Given the description of an element on the screen output the (x, y) to click on. 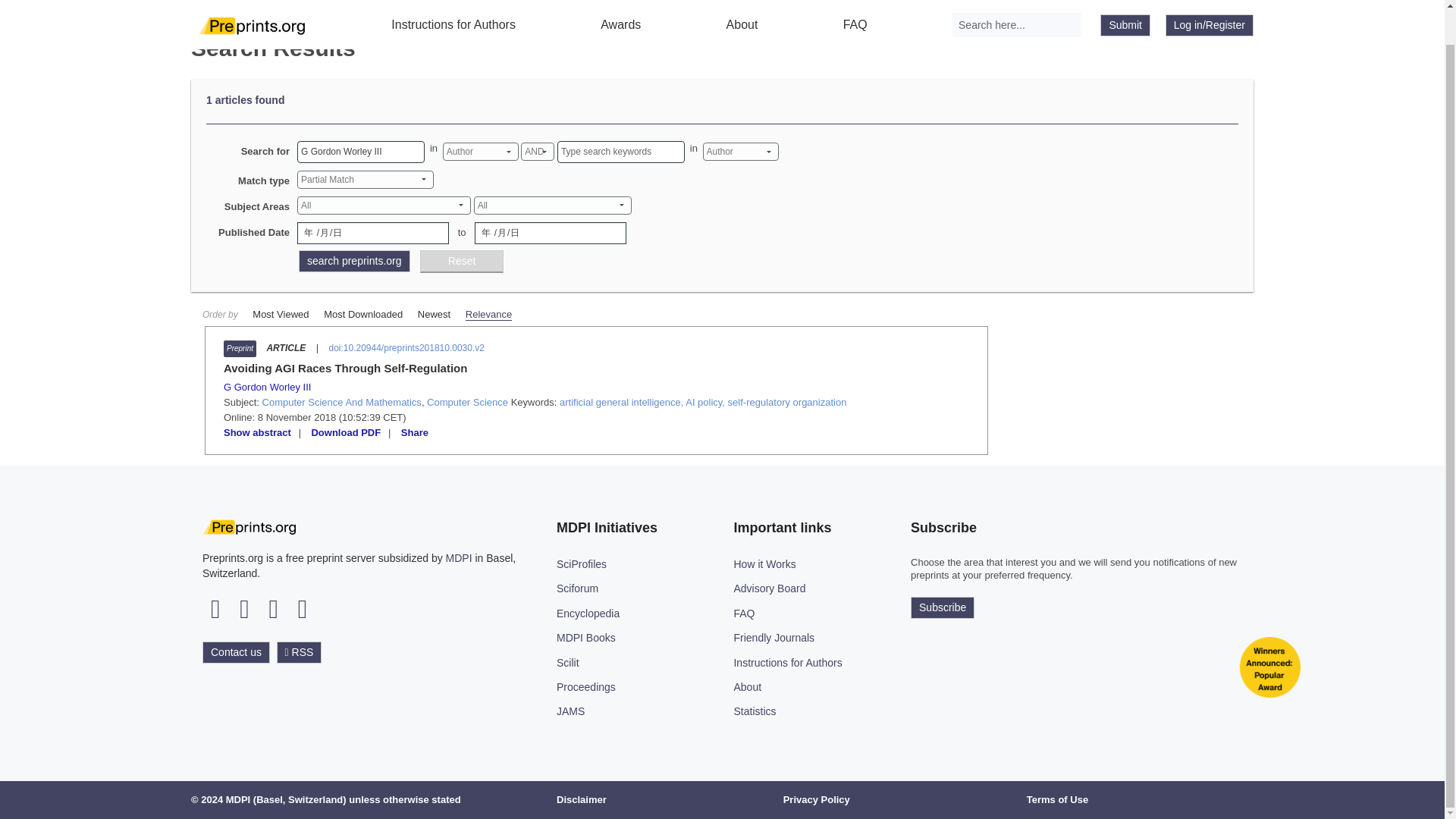
FAQ (855, 6)
Download PDF (345, 432)
Instructions for Authors (453, 6)
Reset (461, 261)
Computer Science (467, 401)
Newest (433, 314)
Submit (1125, 0)
Most Downloaded (363, 314)
About (742, 6)
